Given the description of an element on the screen output the (x, y) to click on. 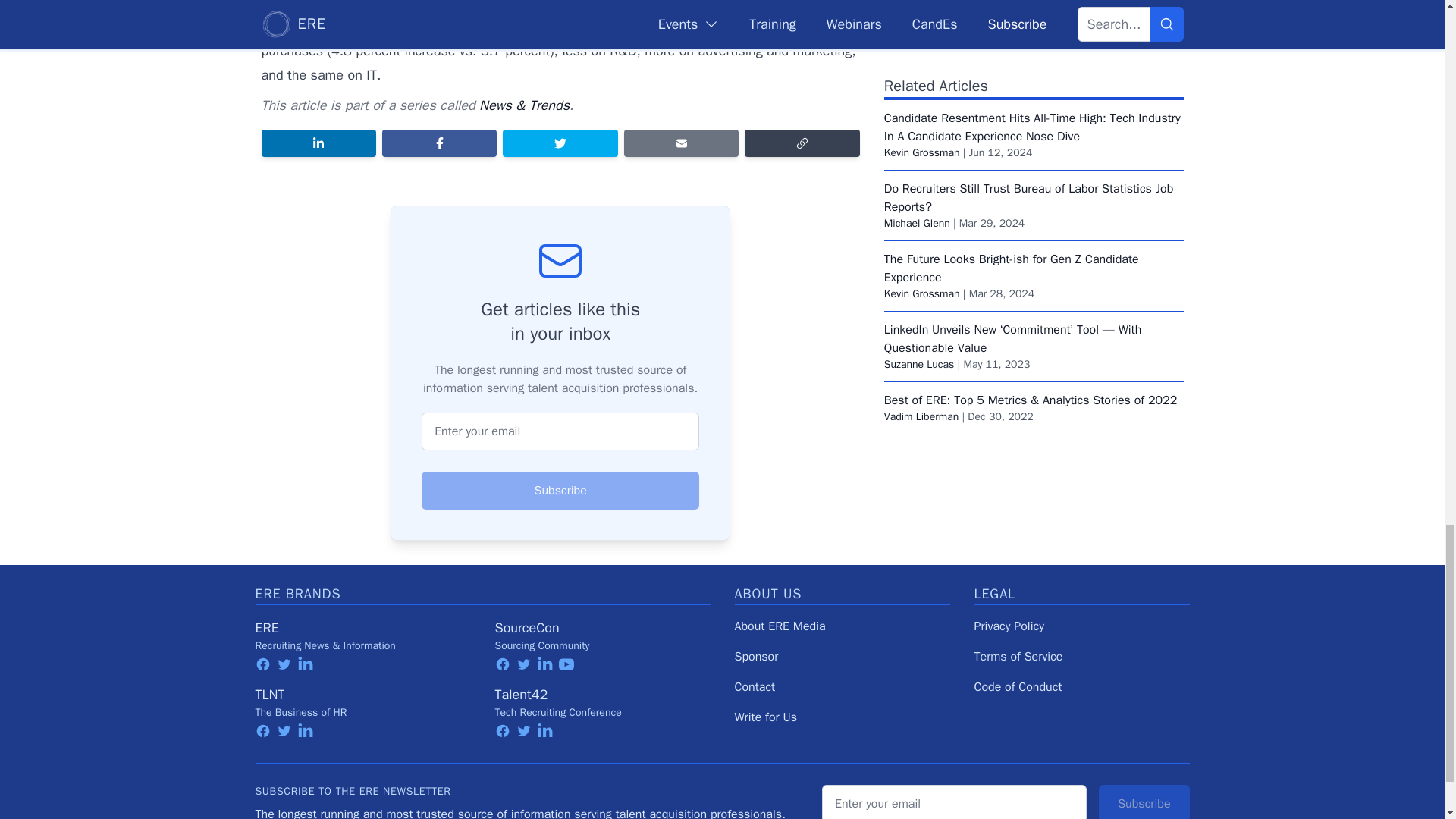
Subscribe (560, 490)
Michael Glenn (916, 151)
Kevin Grossman (921, 80)
Kevin Grossman (921, 221)
The Future Looks Bright-ish for Gen Z Candidate Experience (1010, 195)
ERE (266, 627)
Suzanne Lucas (919, 291)
Vadim Liberman (920, 344)
